Given the description of an element on the screen output the (x, y) to click on. 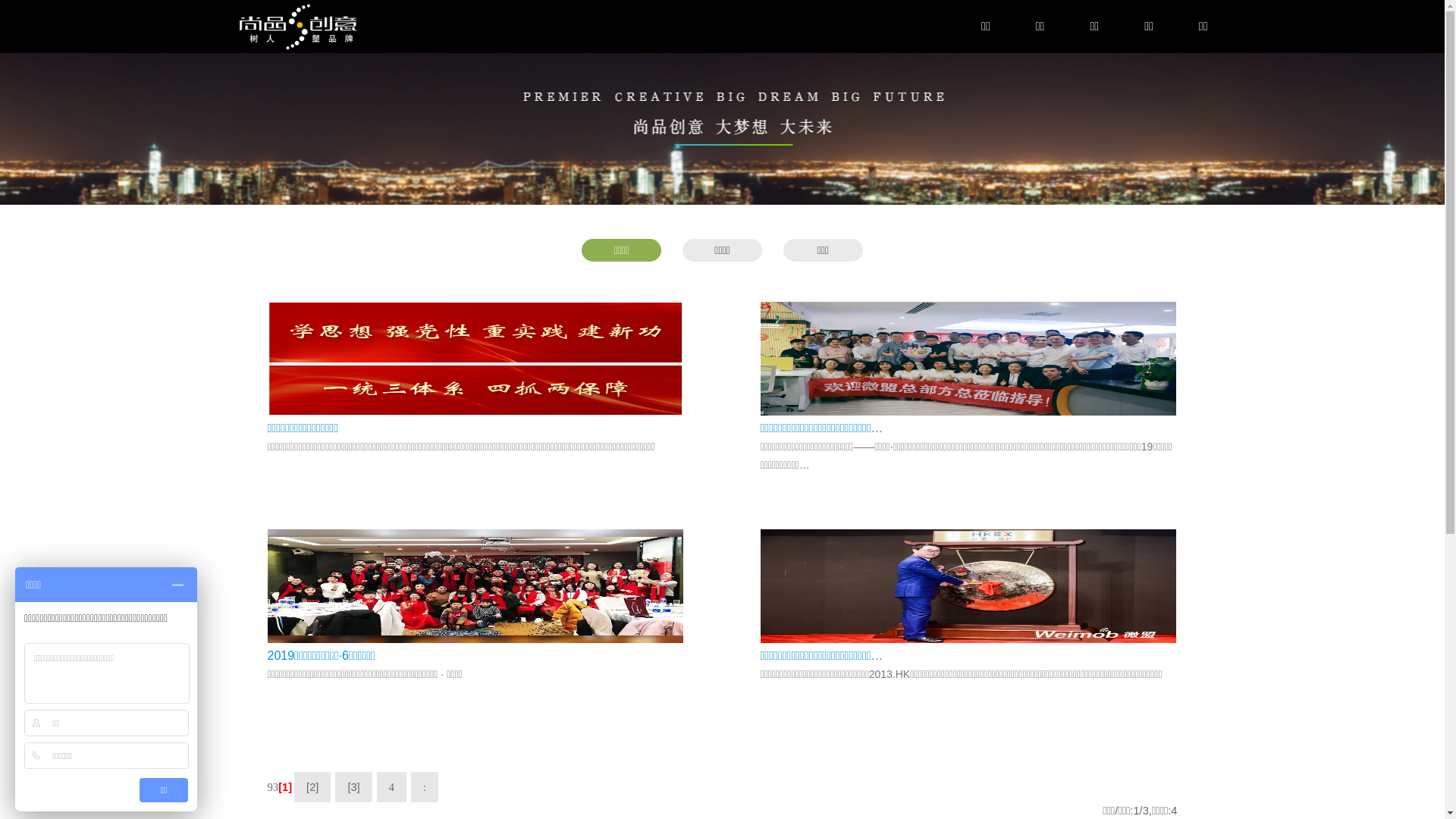
[2] Element type: text (312, 786)
4 Element type: text (391, 786)
[3] Element type: text (353, 786)
: Element type: text (424, 786)
